Given the description of an element on the screen output the (x, y) to click on. 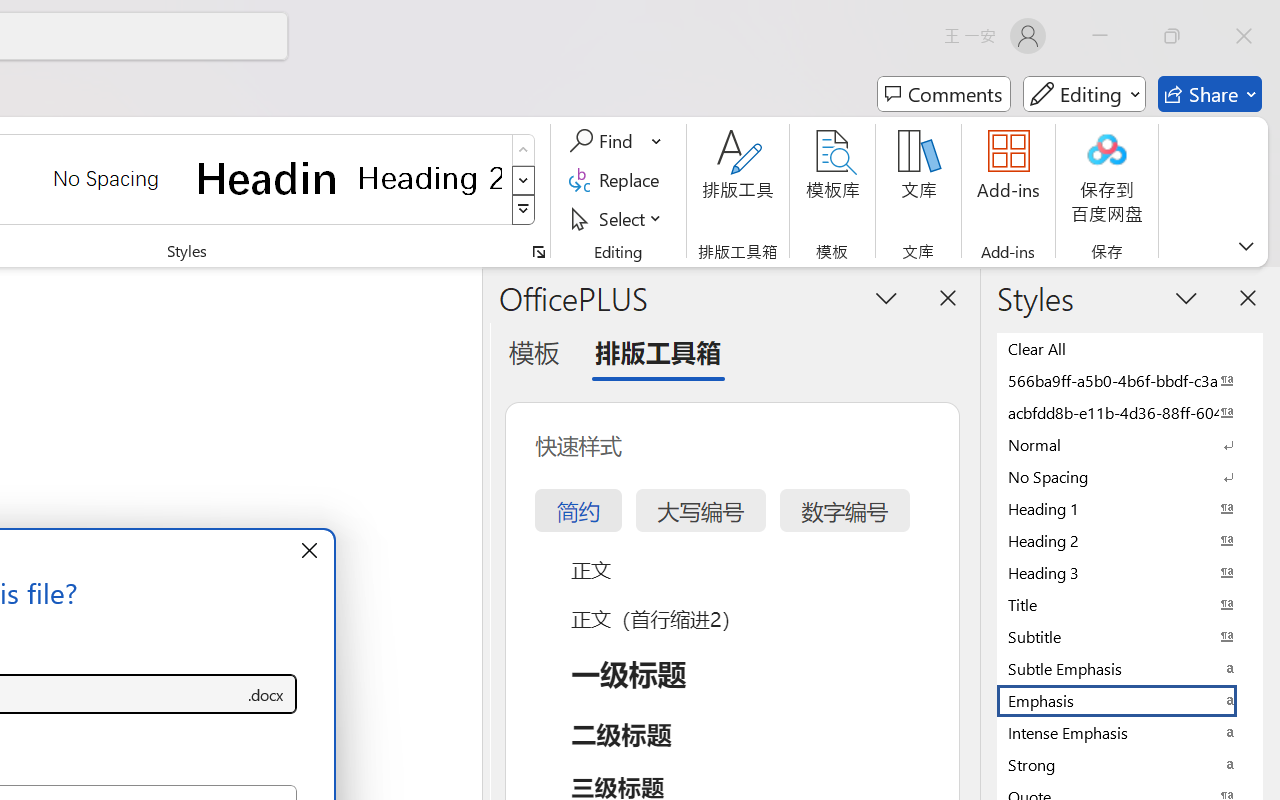
Normal (1130, 444)
Subtitle (1130, 636)
Replace... (617, 179)
Share (1210, 94)
566ba9ff-a5b0-4b6f-bbdf-c3ab41993fc2 (1130, 380)
Find (616, 141)
Mode (1083, 94)
Title (1130, 604)
Intense Emphasis (1130, 732)
